Given the description of an element on the screen output the (x, y) to click on. 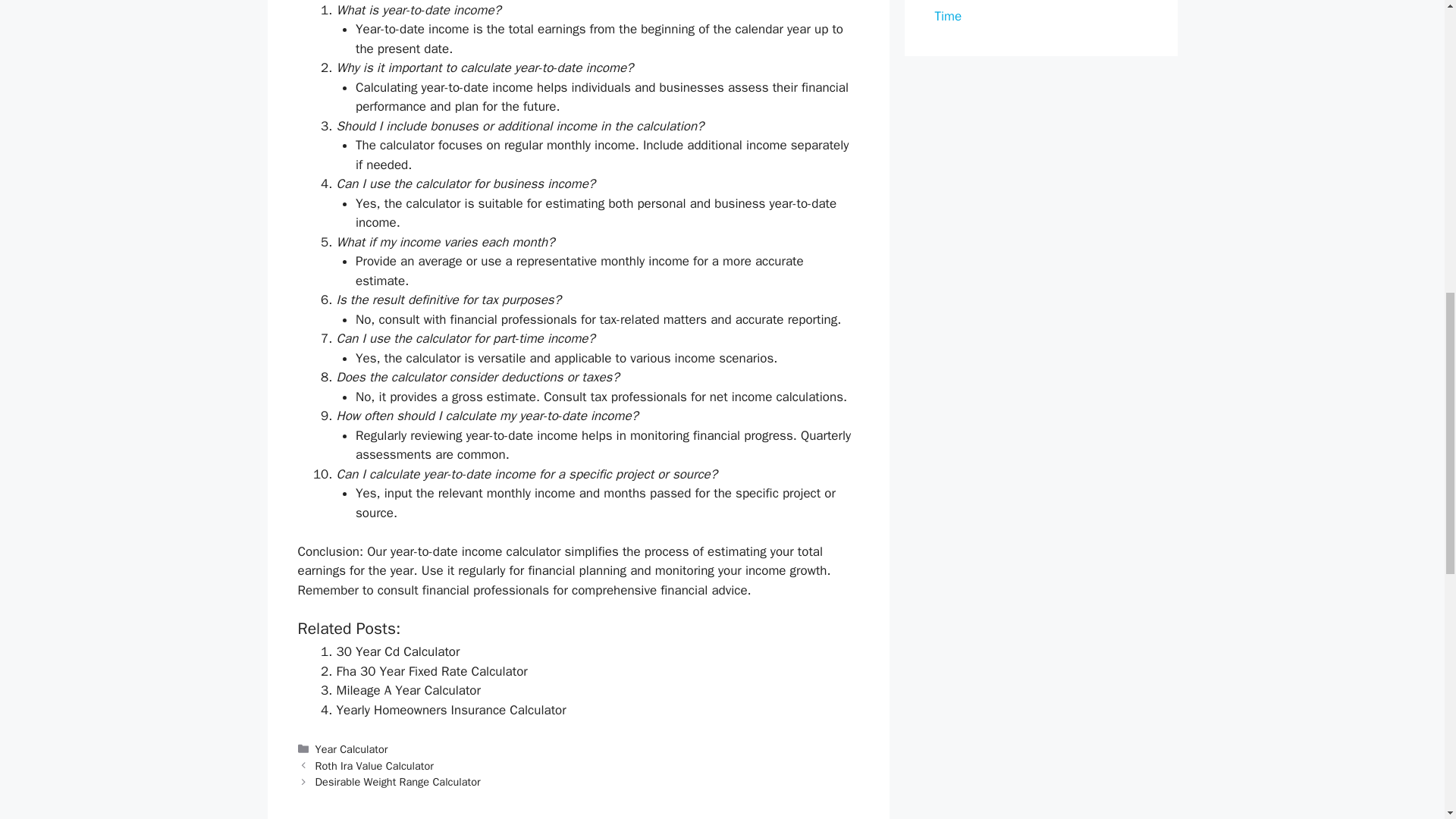
Fha 30 Year Fixed Rate Calculator (431, 671)
30 Year Cd Calculator (398, 651)
30 Year Cd Calculator (398, 651)
Mileage A Year Calculator (408, 690)
Yearly Homeowners Insurance Calculator (451, 709)
Fha 30 Year Fixed Rate Calculator (431, 671)
Time (947, 16)
Desirable Weight Range Calculator (397, 781)
Mileage A Year Calculator (408, 690)
Yearly Homeowners Insurance Calculator (451, 709)
